Given the description of an element on the screen output the (x, y) to click on. 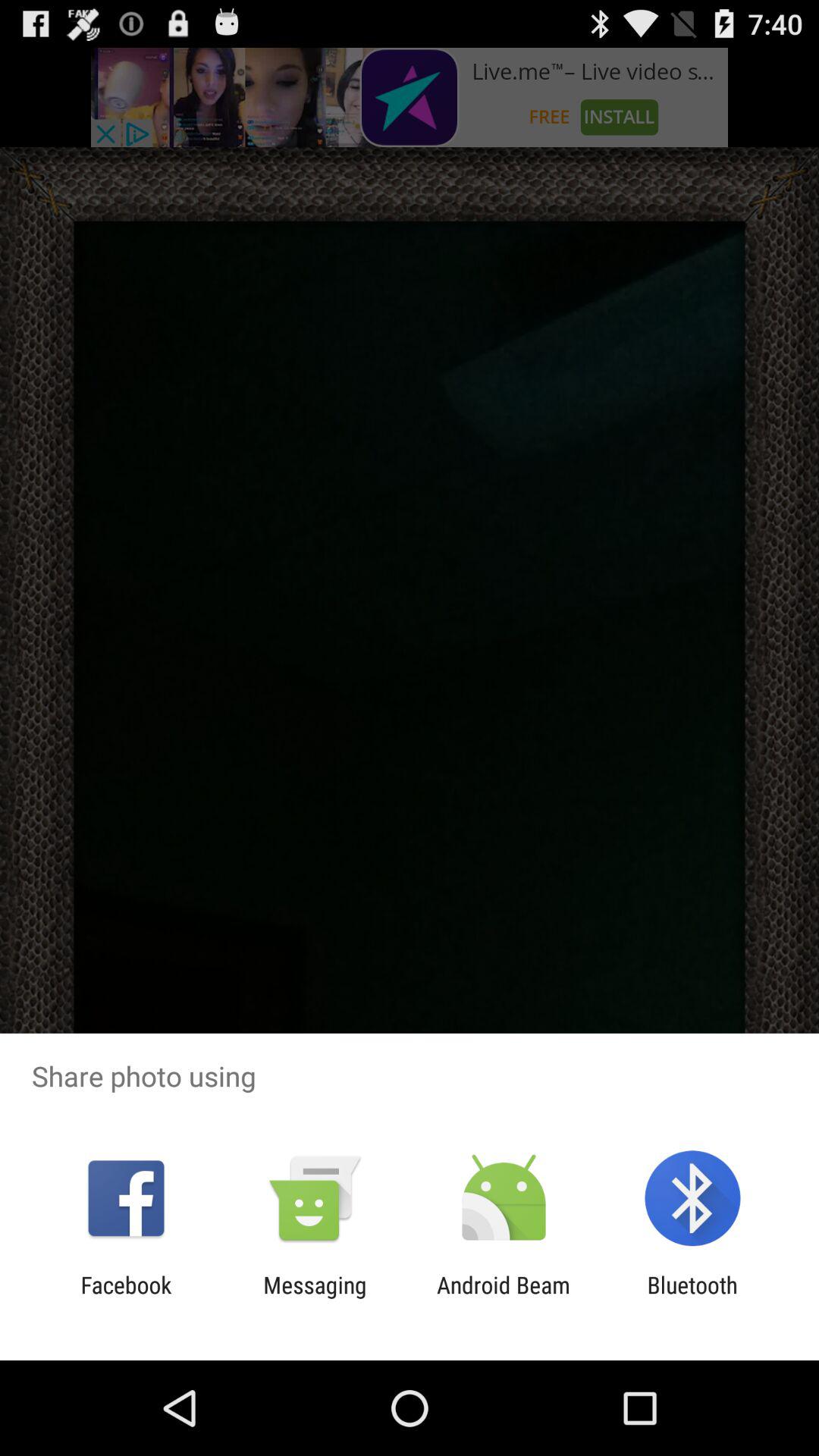
click the item to the right of the android beam icon (692, 1298)
